Given the description of an element on the screen output the (x, y) to click on. 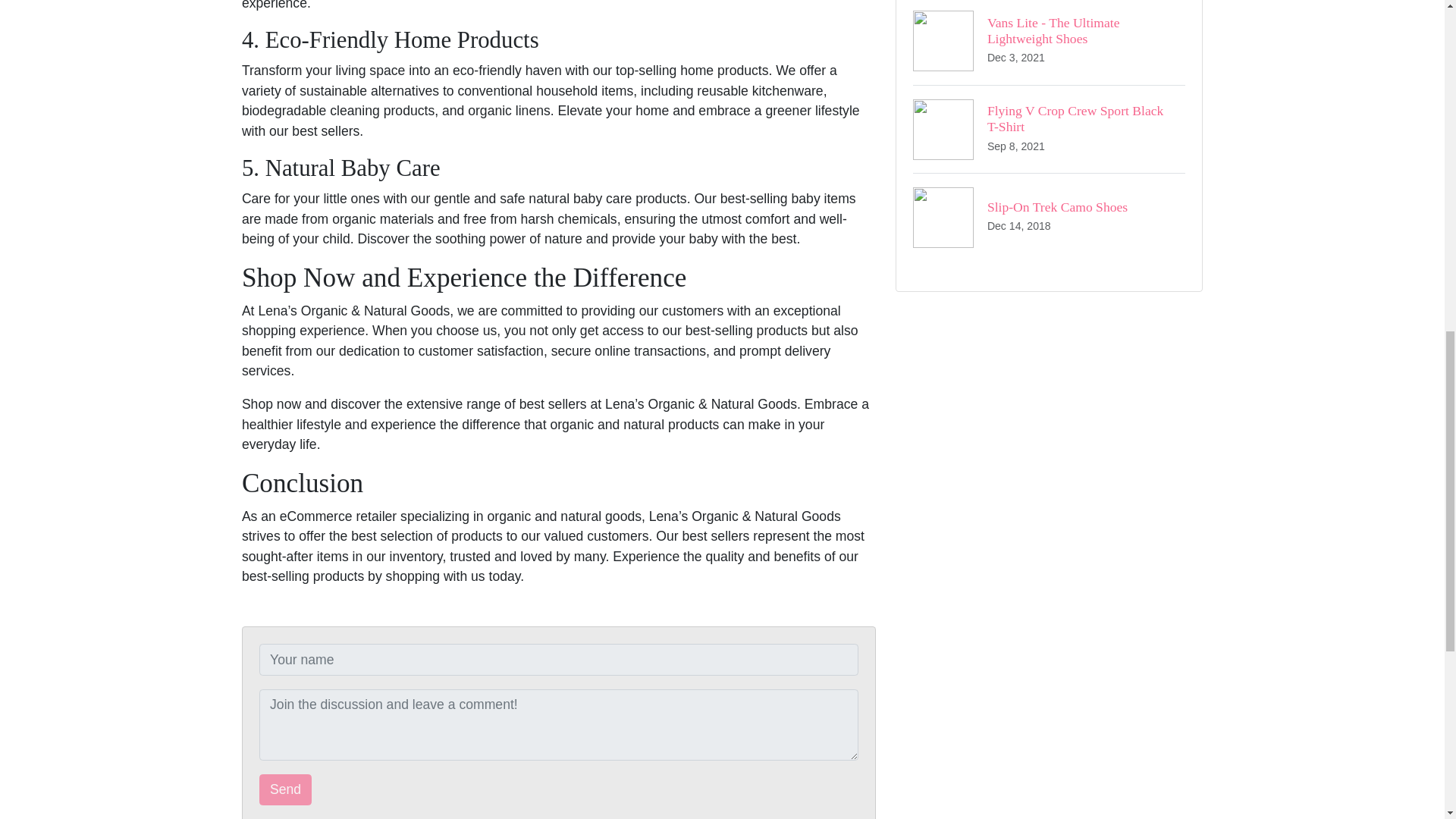
Send (1048, 42)
Send (285, 789)
